Given the description of an element on the screen output the (x, y) to click on. 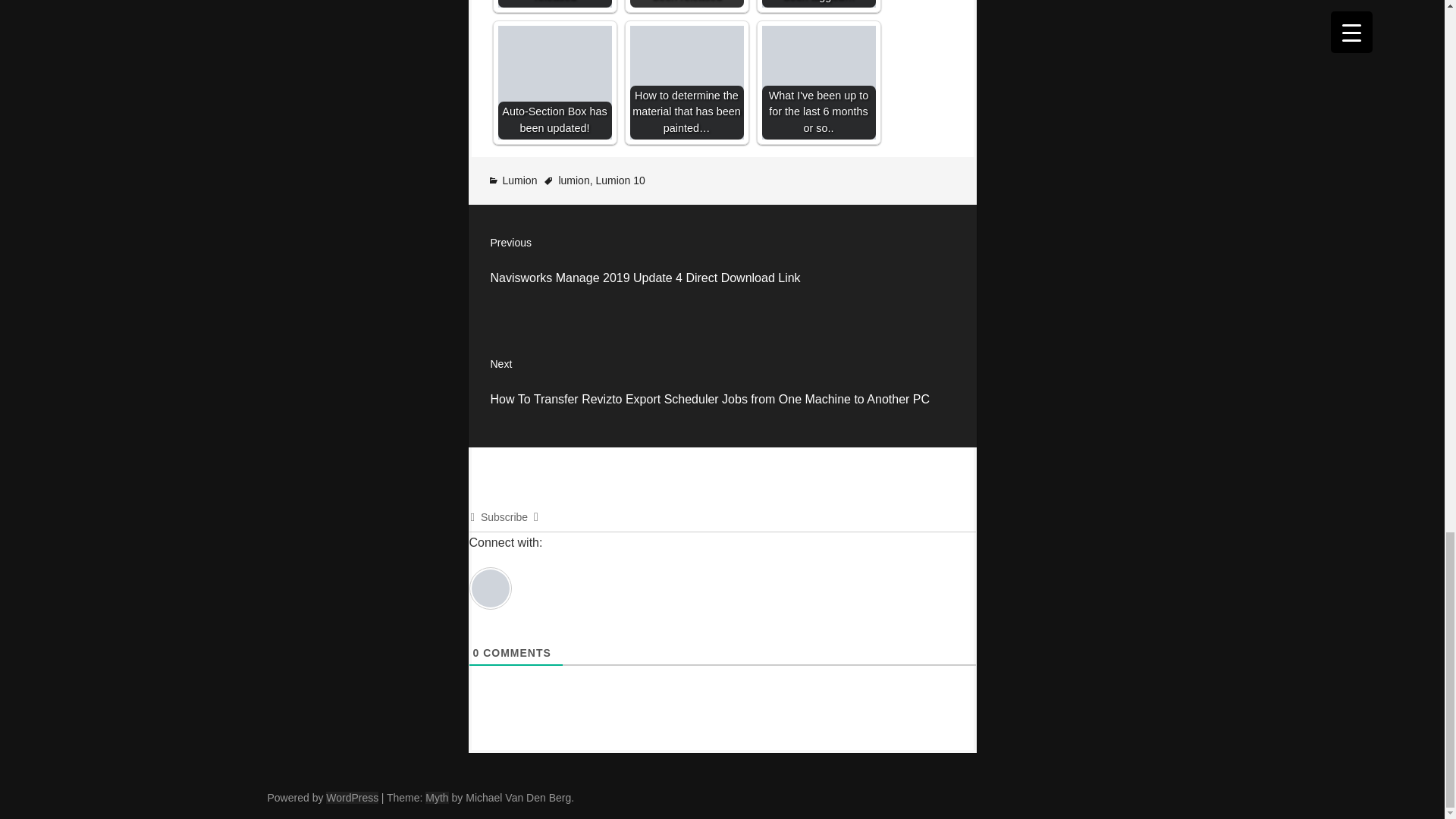
Lumion (519, 180)
lumion (573, 180)
Unifi v1.5.3 has been released (554, 3)
Vasari Beta 3 has been released (685, 3)
Auto-Section Box has been updated! (554, 82)
Auto-Section Box has been updated! (554, 82)
What I've been up to for the last 6 months or so.. (818, 82)
Lumion 10 (620, 180)
